Given the description of an element on the screen output the (x, y) to click on. 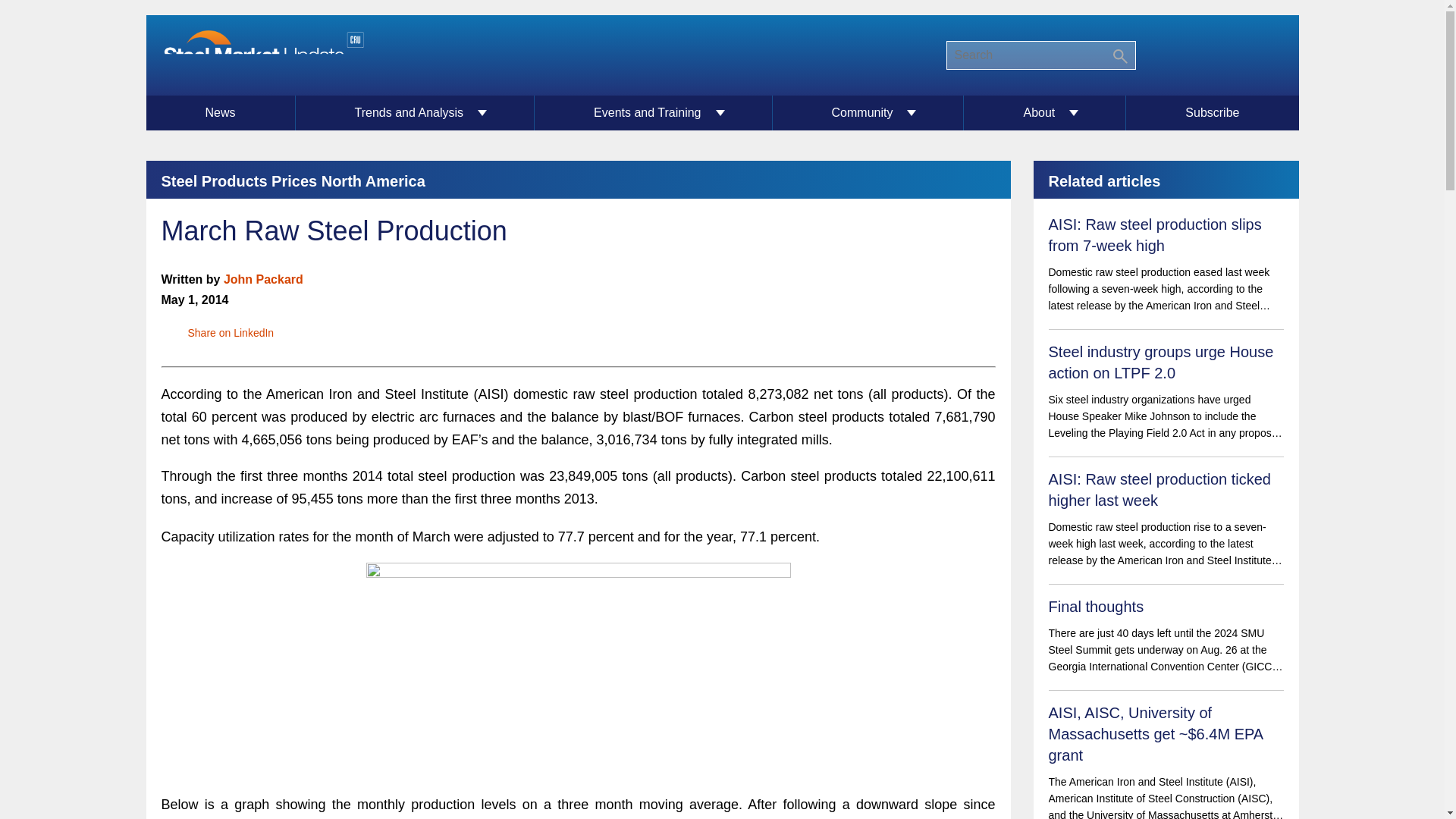
Home (262, 55)
Trends and Analysis (415, 112)
News (220, 112)
